Given the description of an element on the screen output the (x, y) to click on. 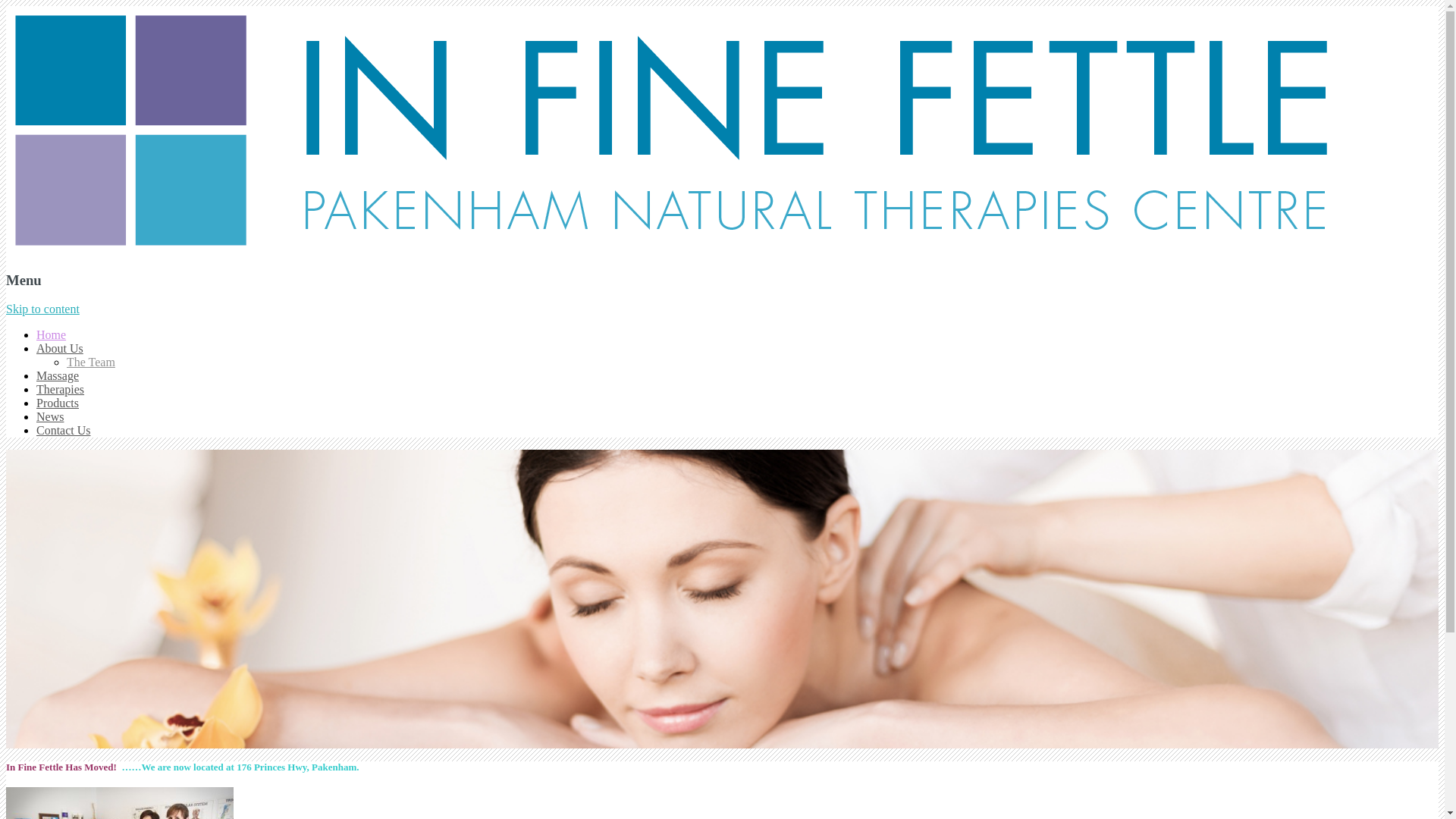
News Element type: text (49, 416)
Therapies Element type: text (60, 388)
Contact Us Element type: text (63, 429)
Home Element type: text (50, 334)
In Fine Fettle Element type: hover (672, 250)
Products Element type: text (57, 402)
Massage Element type: text (57, 375)
Skip to content Element type: text (42, 308)
About Us Element type: text (59, 348)
The Team Element type: text (90, 361)
